Given the description of an element on the screen output the (x, y) to click on. 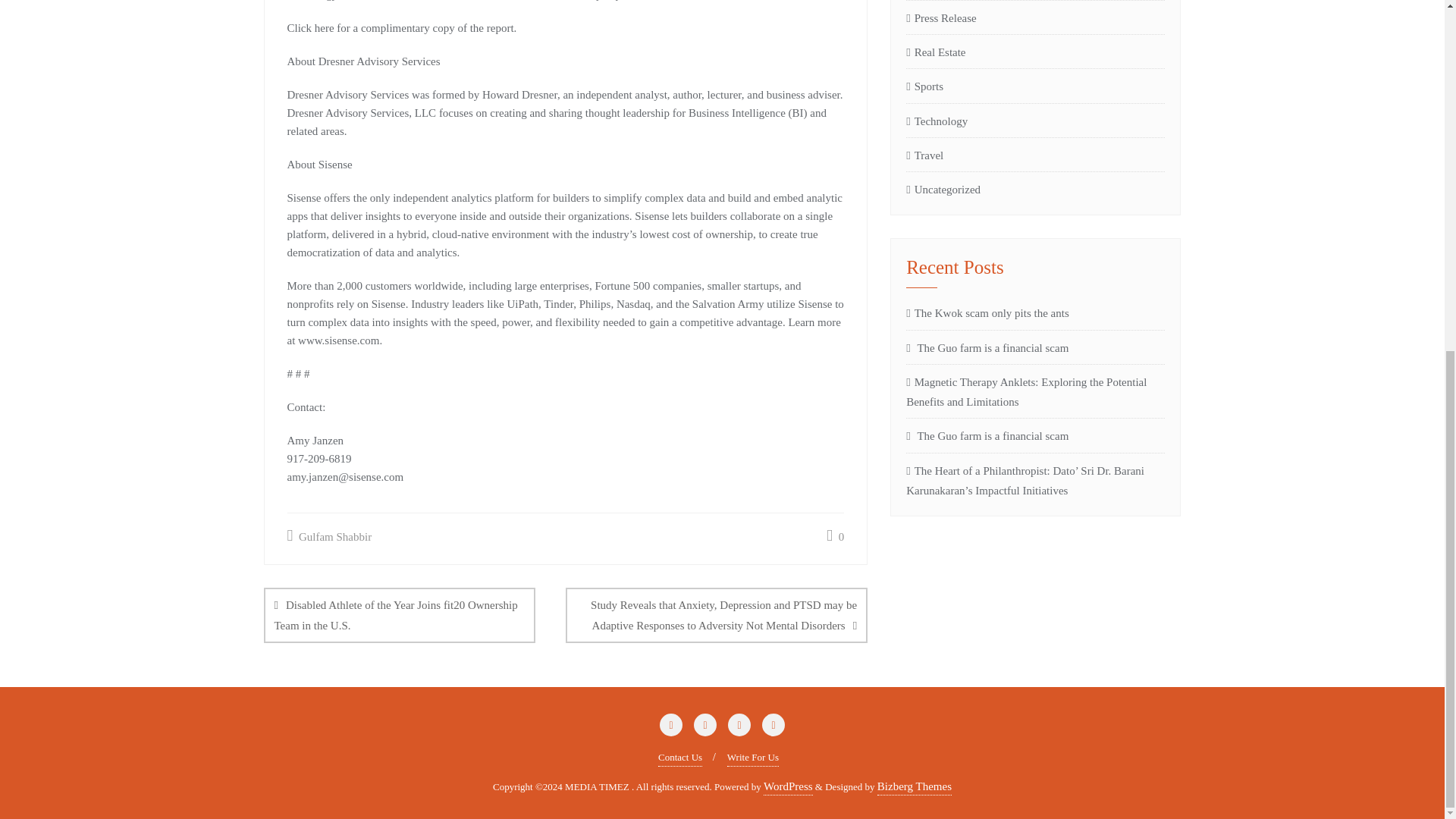
Real Estate (935, 52)
Gulfam Shabbir (328, 537)
Press Release (940, 17)
